Given the description of an element on the screen output the (x, y) to click on. 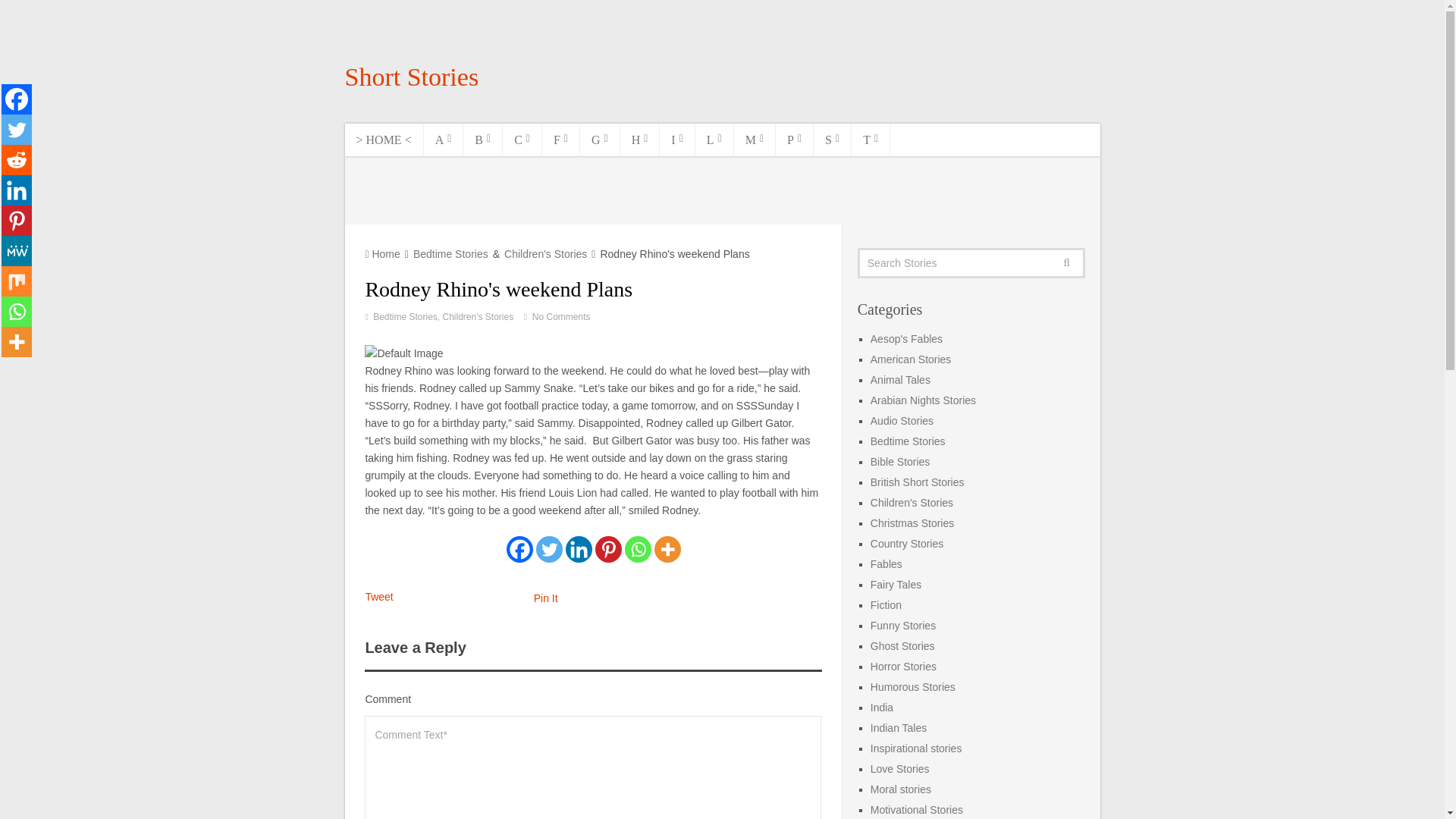
Twitter (16, 129)
More (667, 549)
Mix (16, 281)
M (754, 139)
G (599, 139)
Short Stories (411, 76)
F (560, 139)
T (870, 139)
I (676, 139)
Facebook (16, 99)
